Given the description of an element on the screen output the (x, y) to click on. 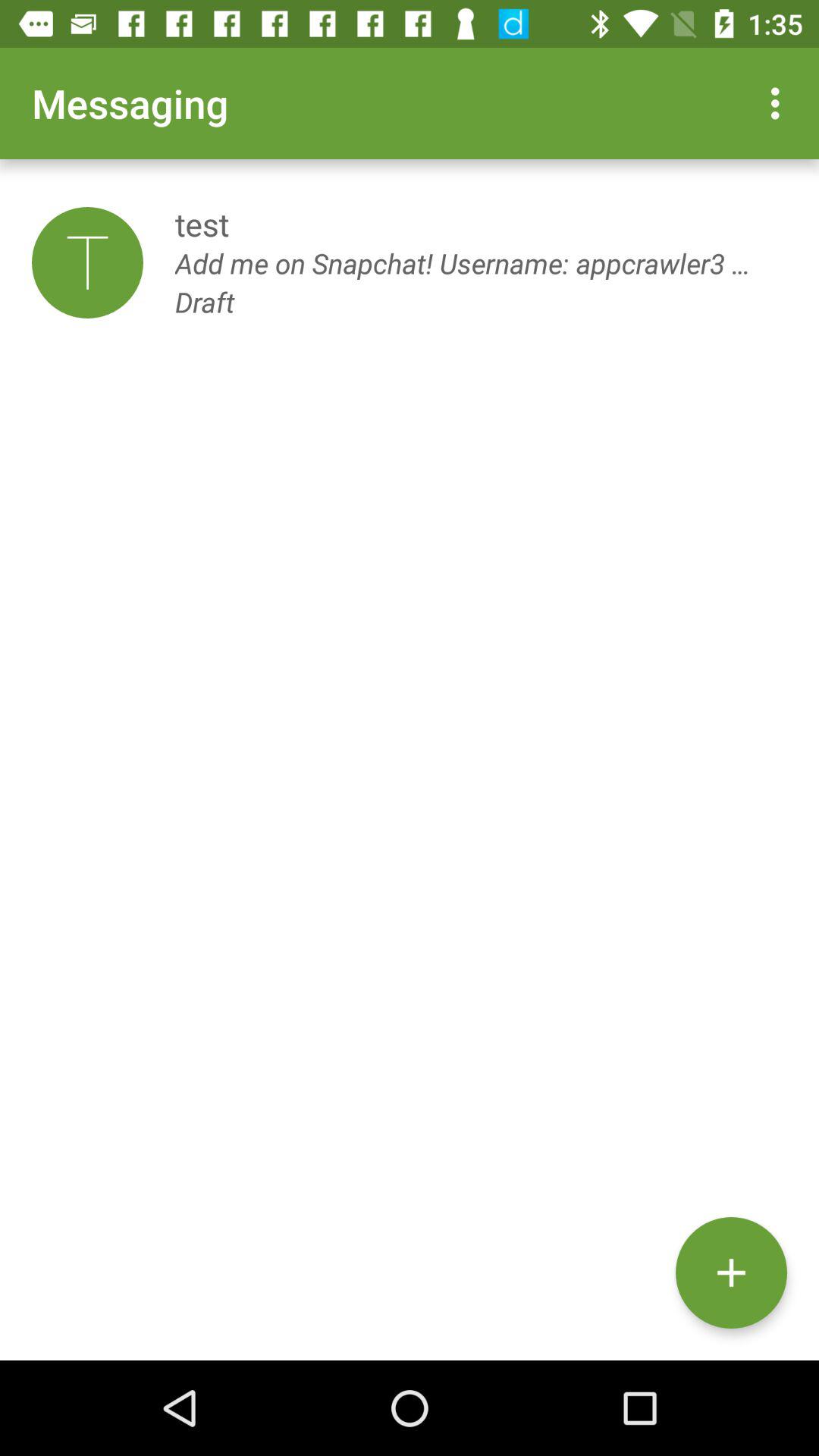
turn on app to the right of messaging icon (779, 103)
